Given the description of an element on the screen output the (x, y) to click on. 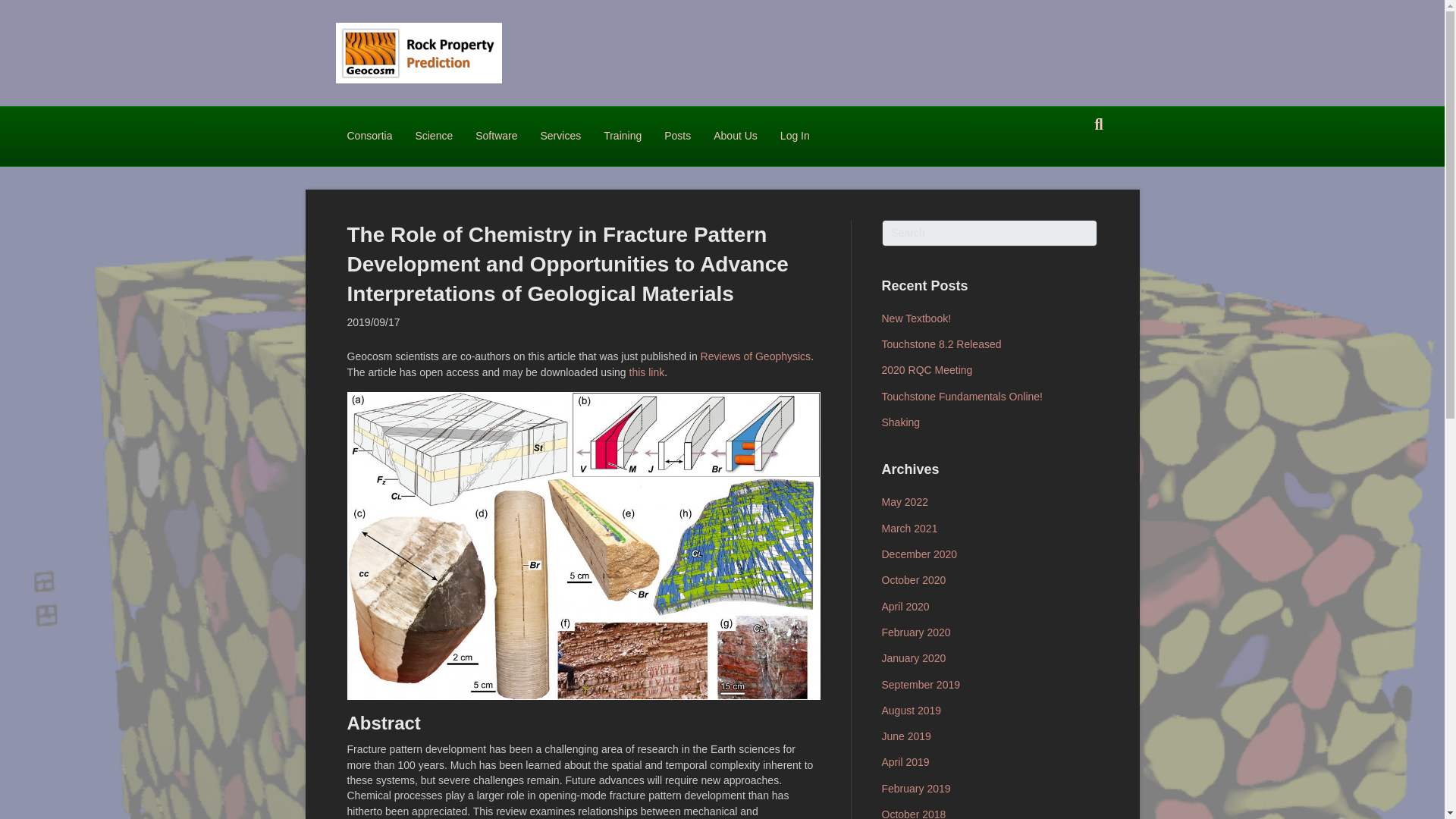
Posts (676, 136)
Log In (794, 136)
February 2020 (915, 632)
Shaking (900, 422)
New Textbook! (915, 318)
Reviews of Geophysics (755, 356)
October 2020 (912, 580)
About Us (734, 136)
this link (646, 372)
Software (496, 136)
December 2020 (918, 553)
May 2022 (903, 501)
April 2020 (904, 606)
2020 RQC Meeting (926, 369)
Consortia (368, 136)
